Given the description of an element on the screen output the (x, y) to click on. 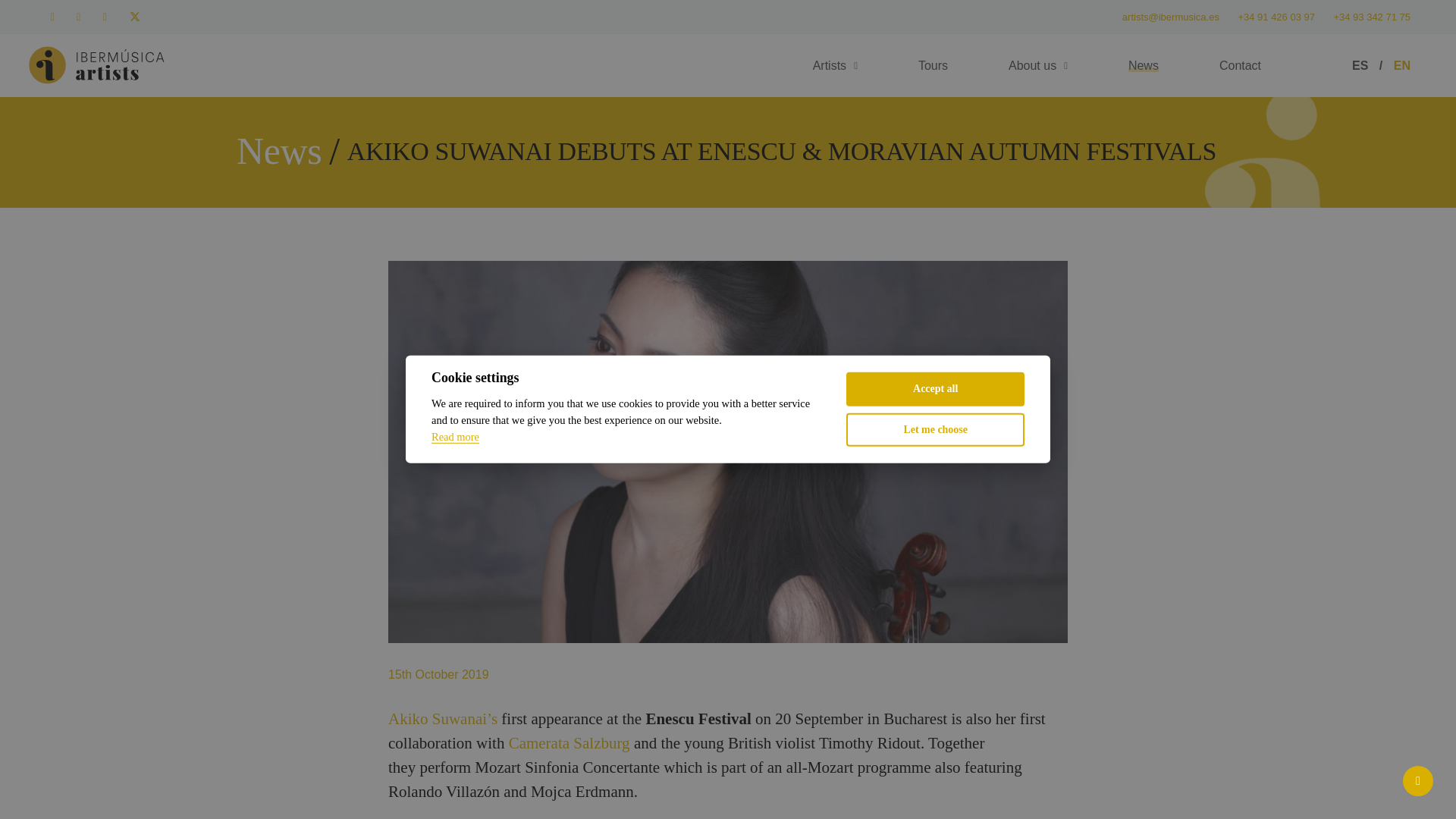
Twitter (135, 16)
EN (1401, 65)
English (1401, 65)
Camerata Salzburg (569, 742)
About us (1038, 65)
News (278, 150)
ES (1360, 65)
